Given the description of an element on the screen output the (x, y) to click on. 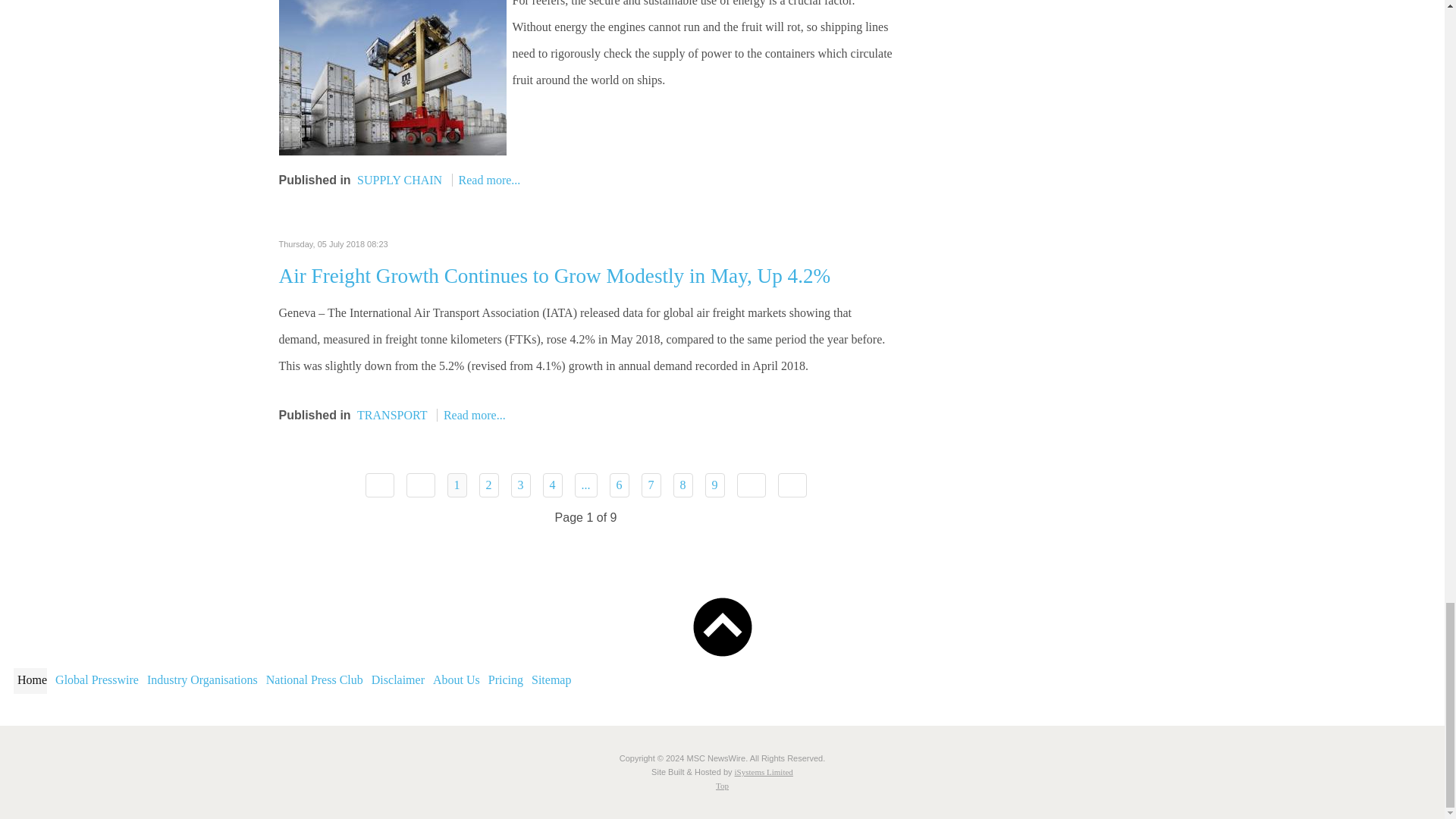
Top (722, 785)
End (791, 485)
5 (585, 485)
Next (750, 485)
MSC is investing in reefer cargo services (392, 69)
